Given the description of an element on the screen output the (x, y) to click on. 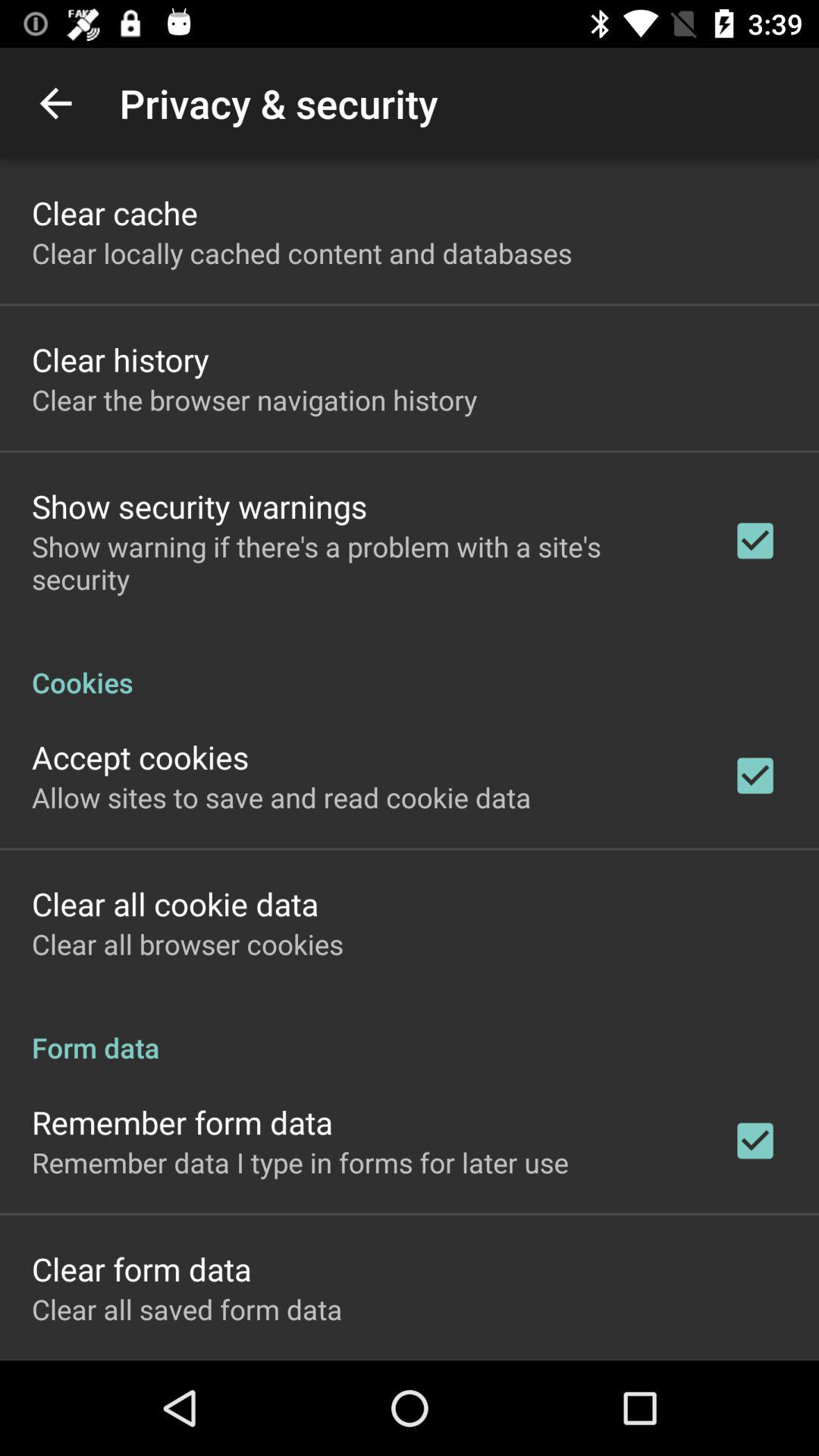
turn off the clear locally cached (301, 252)
